Given the description of an element on the screen output the (x, y) to click on. 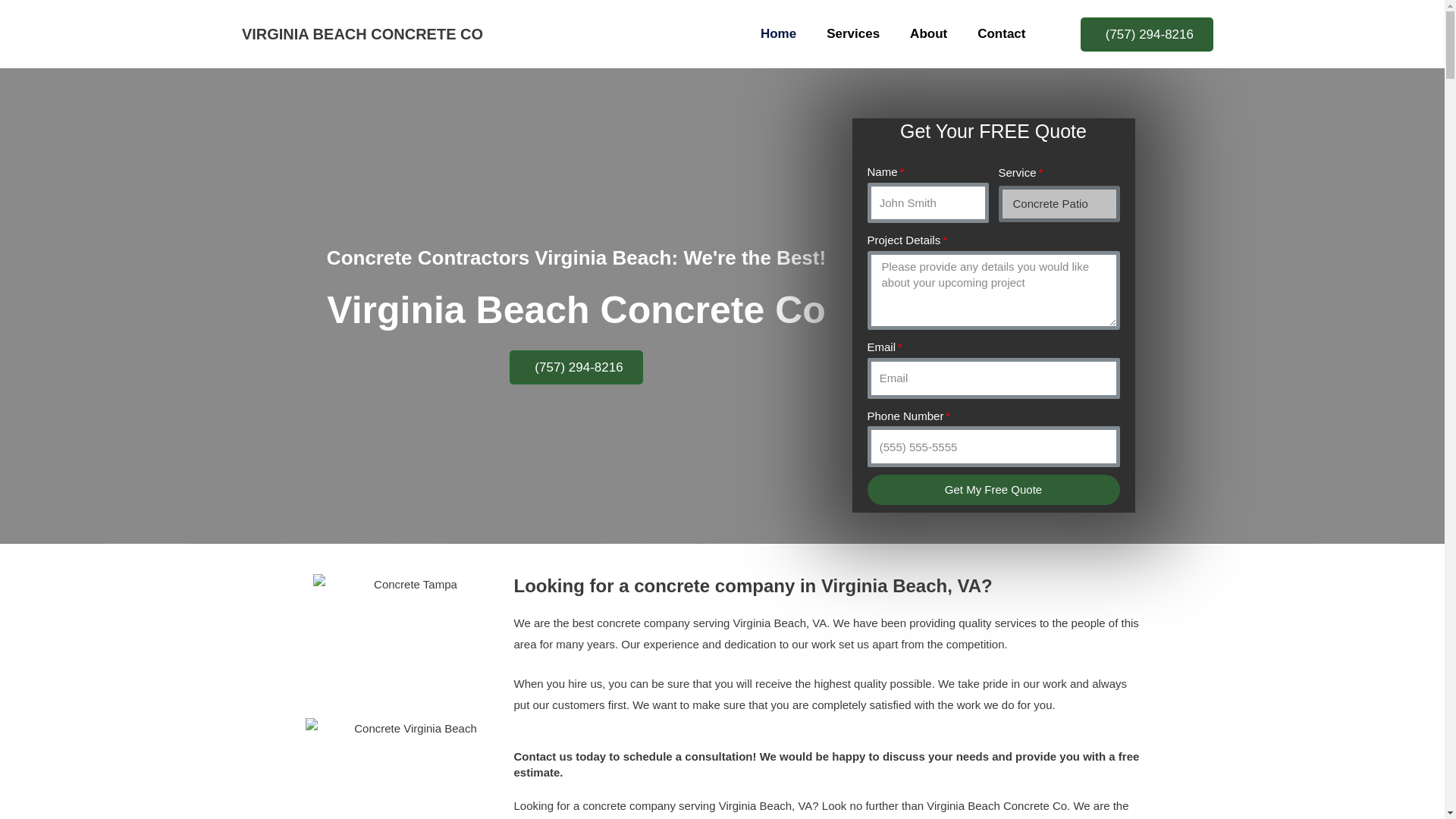
Home (777, 33)
VIRGINIA BEACH CONCRETE CO (362, 33)
Get My Free Quote (993, 490)
Services (852, 33)
Contact (1001, 33)
About (928, 33)
